Given the description of an element on the screen output the (x, y) to click on. 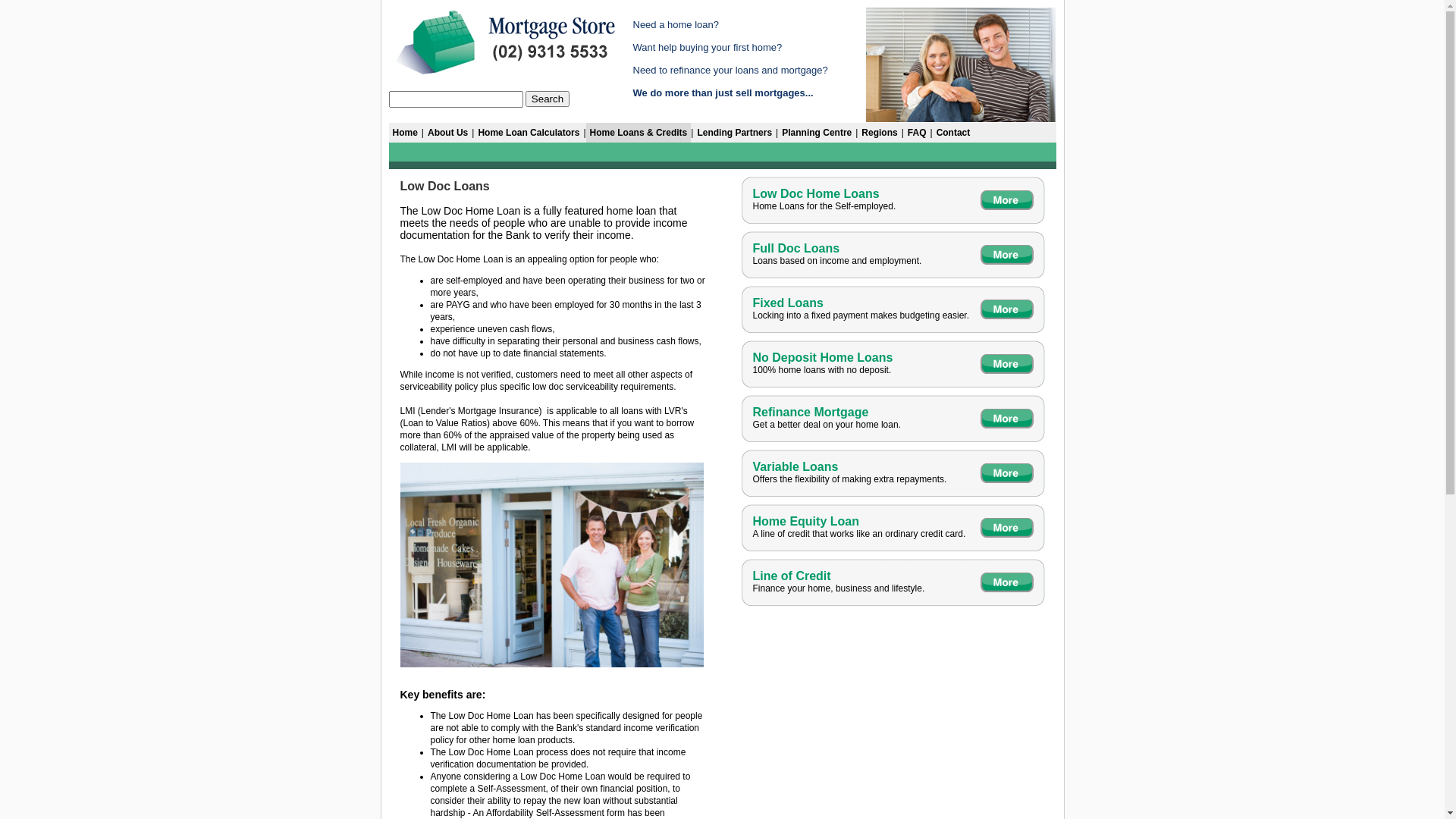
Low Doc Home Loans Element type: text (815, 193)
Variable Loans Element type: text (794, 466)
Refinance Mortgage Element type: text (810, 411)
Line of Credit Element type: text (791, 575)
No Deposit Home Loans Element type: text (822, 357)
Full Doc Loans Element type: text (795, 247)
About Us Element type: text (447, 132)
Contact Element type: text (953, 132)
Home Loan Calculators Element type: text (528, 132)
Home Loans & Credits Element type: text (638, 132)
Search Element type: text (547, 98)
Home Equity Loan Element type: text (805, 520)
FAQ Element type: text (916, 132)
Regions Element type: text (878, 132)
Planning Centre Element type: text (816, 132)
Lending Partners Element type: text (734, 132)
Fixed Loans Element type: text (787, 302)
Home Element type: text (404, 132)
